Given the description of an element on the screen output the (x, y) to click on. 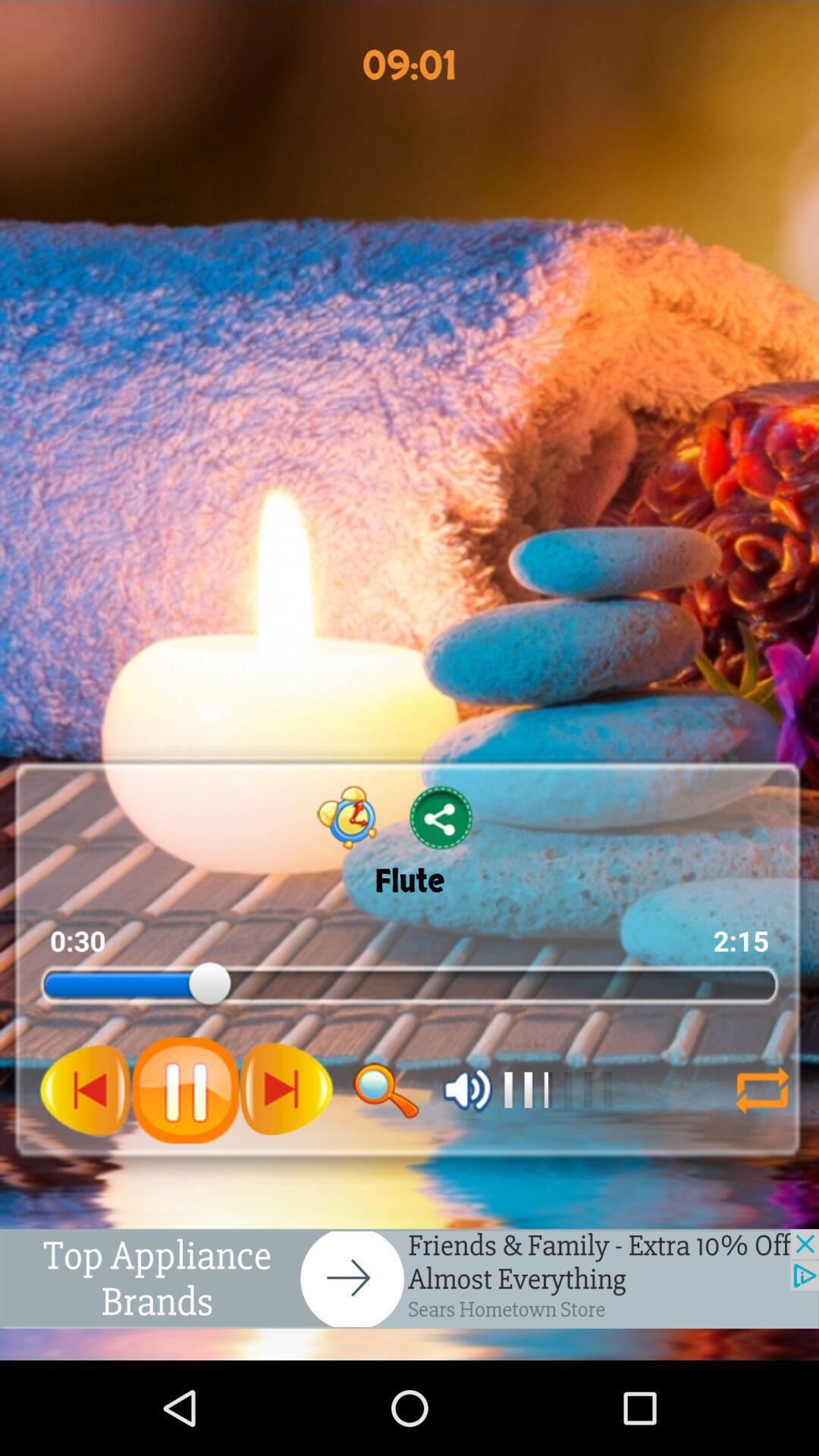
share (441, 817)
